Given the description of an element on the screen output the (x, y) to click on. 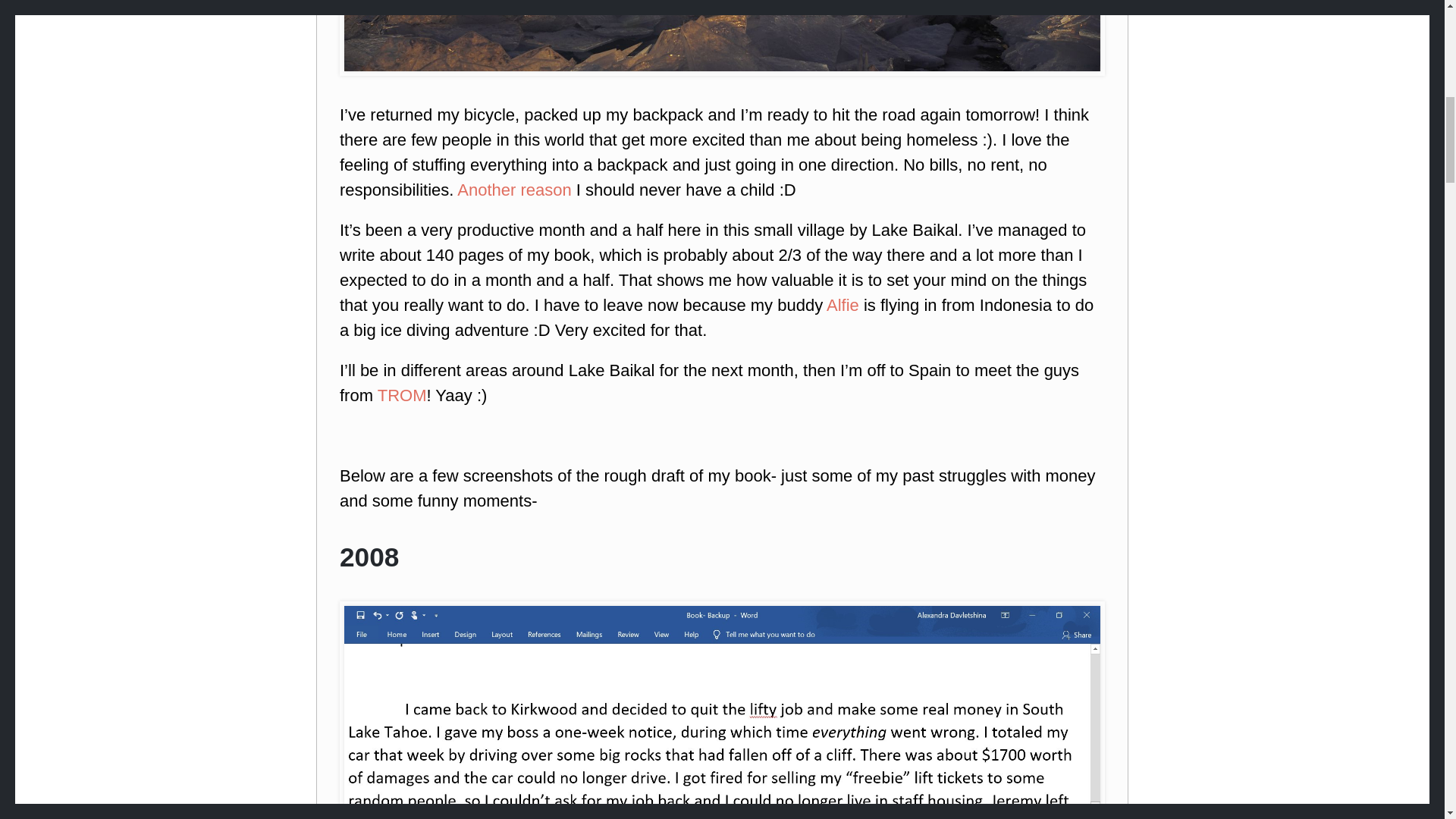
Another reason (513, 189)
Alfie (845, 304)
TROM (401, 394)
